Given the description of an element on the screen output the (x, y) to click on. 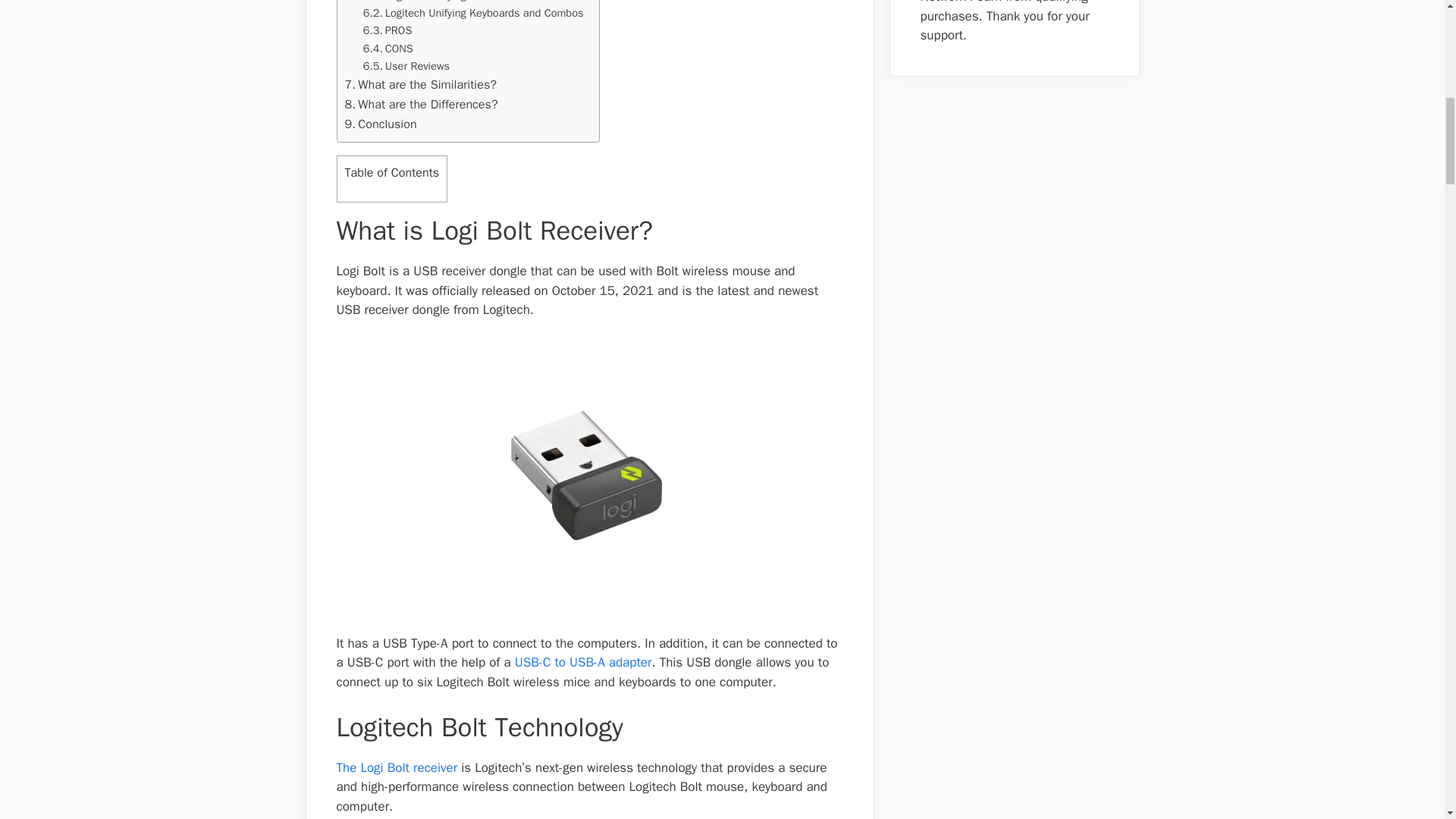
Logitech Unifying Receiver Mice (449, 2)
USB-C to USB-A adapter (583, 662)
What are the Differences? (420, 104)
PROS (387, 30)
User Reviews (405, 66)
What are the Similarities? (419, 85)
The Logi Bolt receiver (398, 767)
CONS (387, 48)
Conclusion (379, 124)
Logitech Unifying Keyboards and Combos (472, 13)
